Given the description of an element on the screen output the (x, y) to click on. 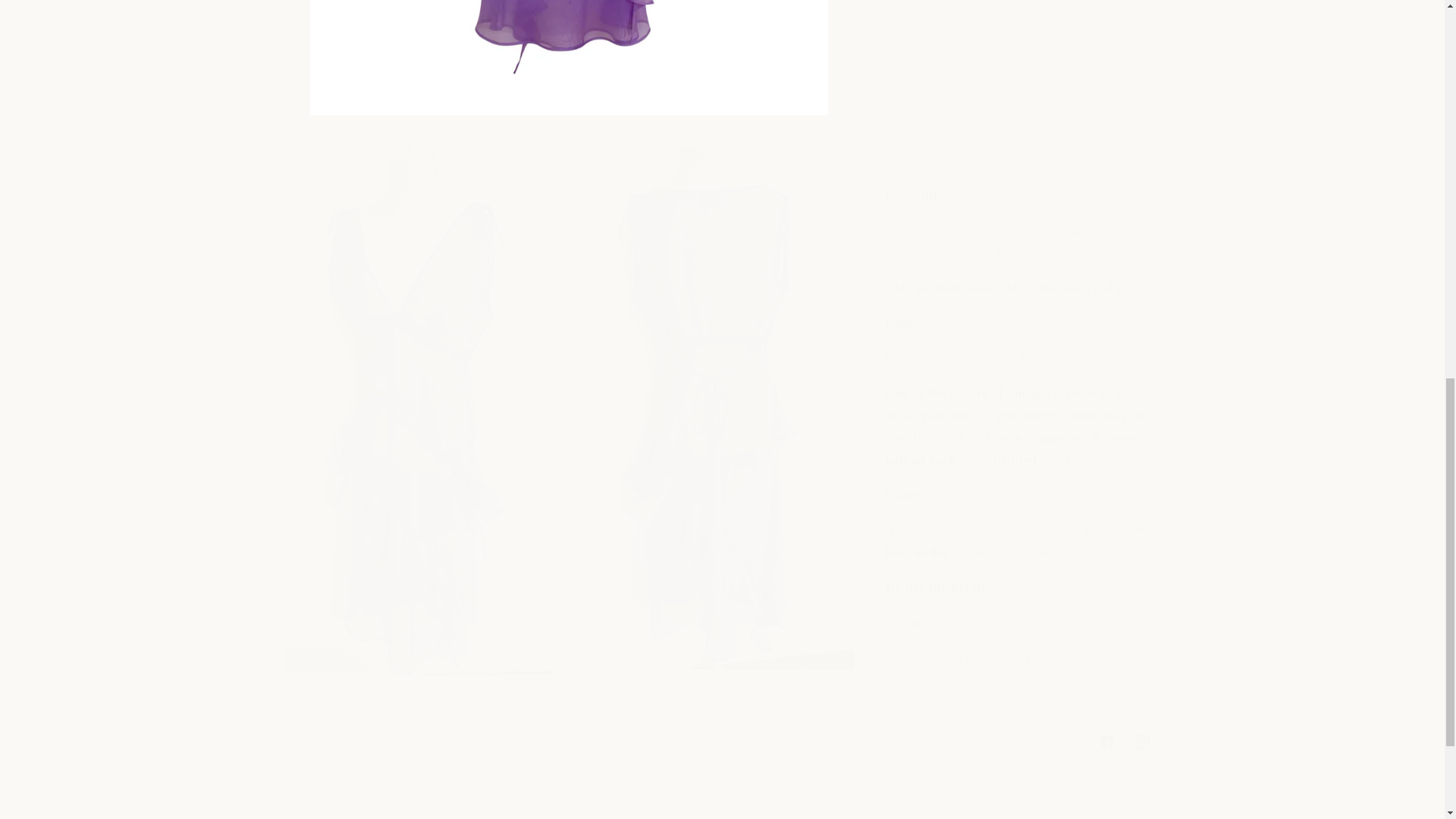
Open media 2 in modal (721, 741)
Open media 1 in modal (935, 376)
